Given the description of an element on the screen output the (x, y) to click on. 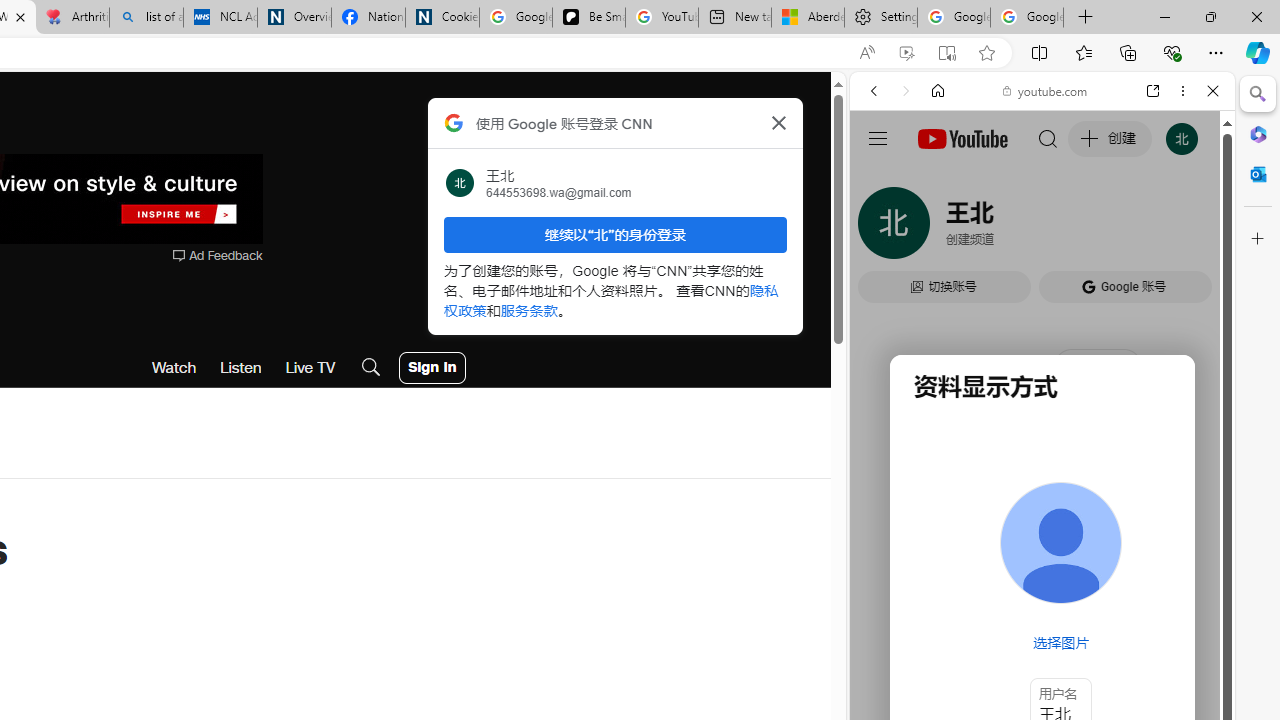
Cookies (441, 17)
Search Icon (371, 367)
youtube.com (1046, 90)
Show More Music (1164, 546)
